Given the description of an element on the screen output the (x, y) to click on. 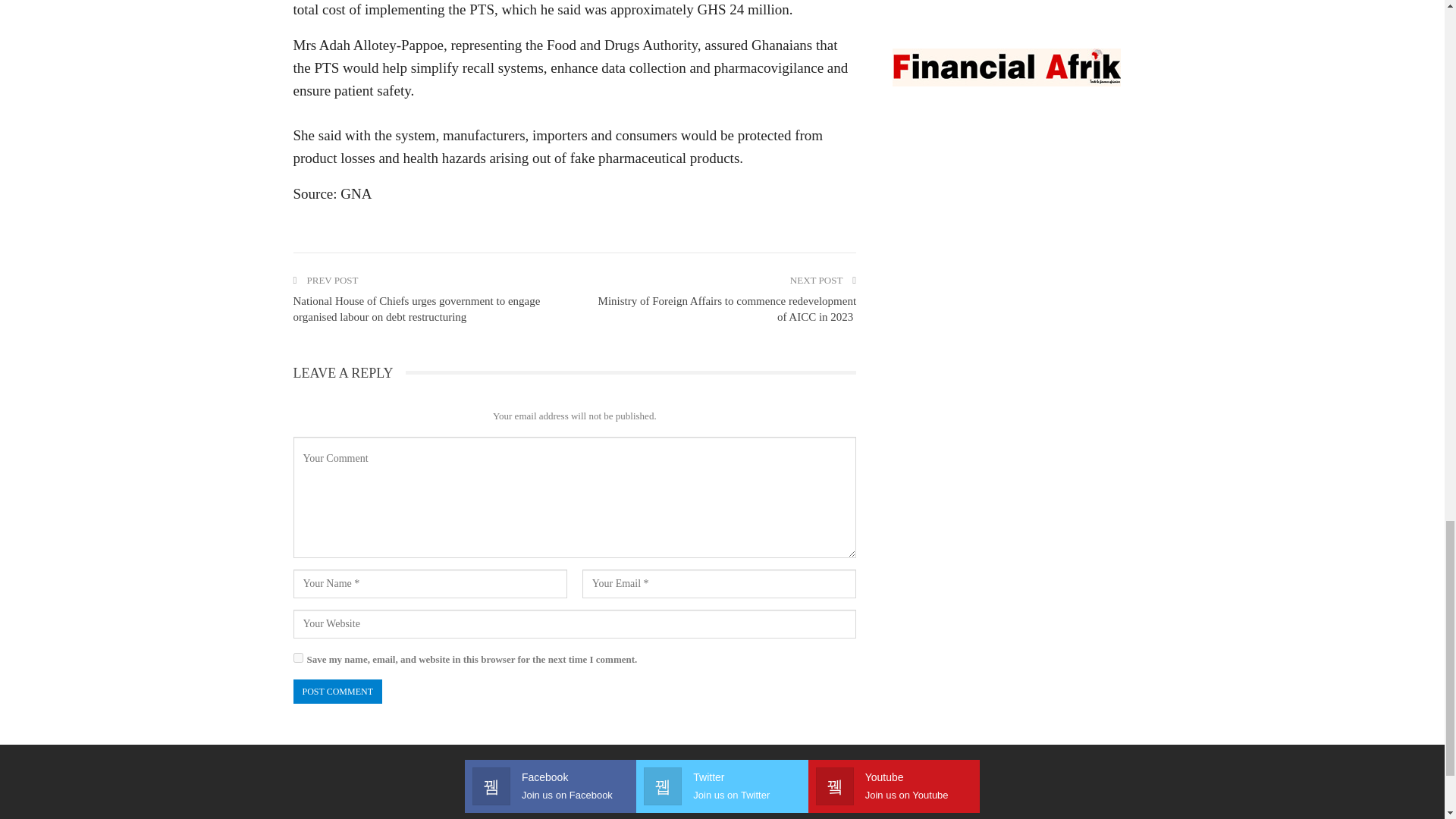
Post Comment (336, 691)
yes (297, 657)
